Given the description of an element on the screen output the (x, y) to click on. 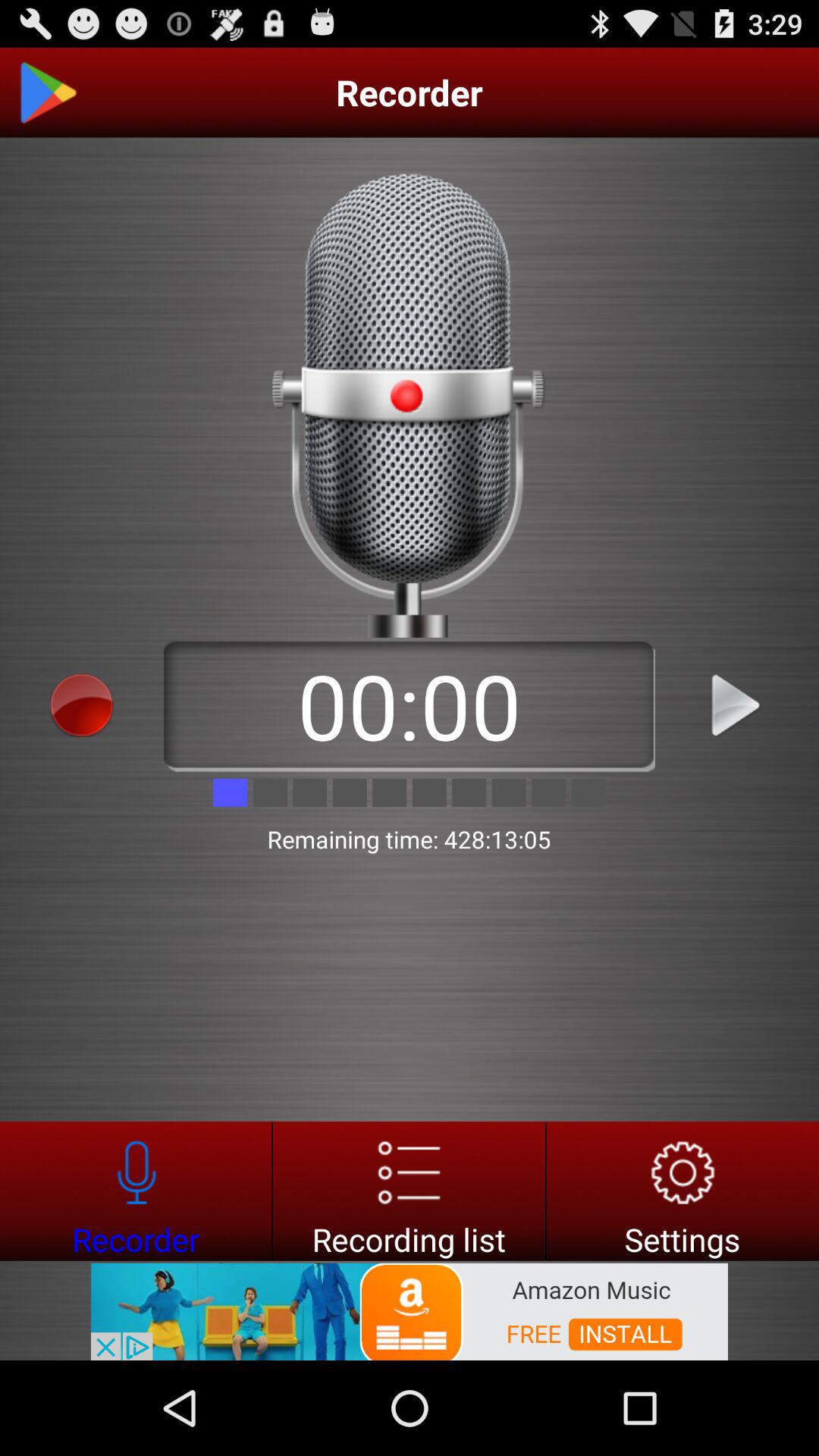
go to playstore (47, 92)
